Given the description of an element on the screen output the (x, y) to click on. 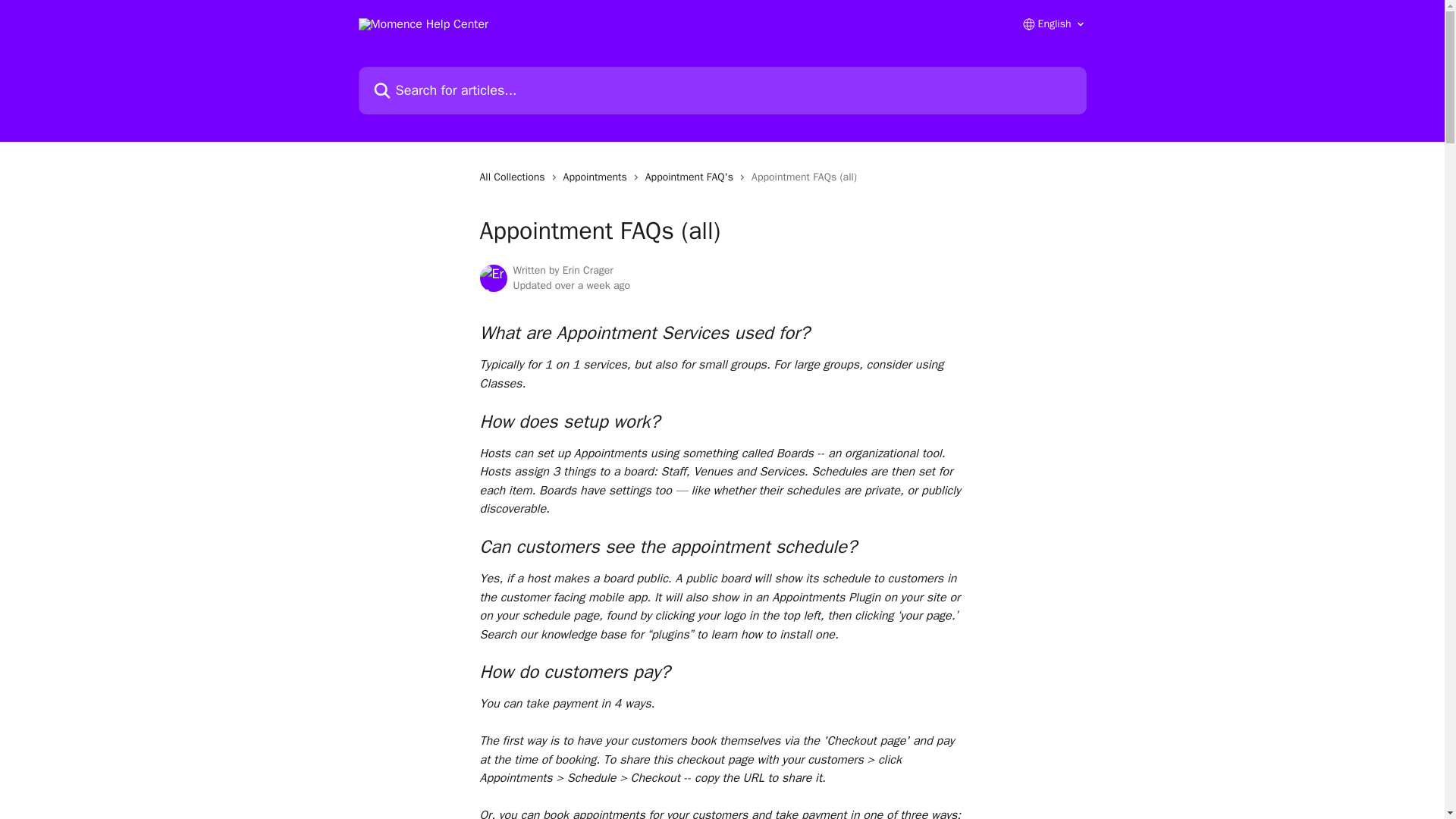
All Collections (514, 176)
Appointments (598, 176)
Appointment FAQ's (692, 176)
